Given the description of an element on the screen output the (x, y) to click on. 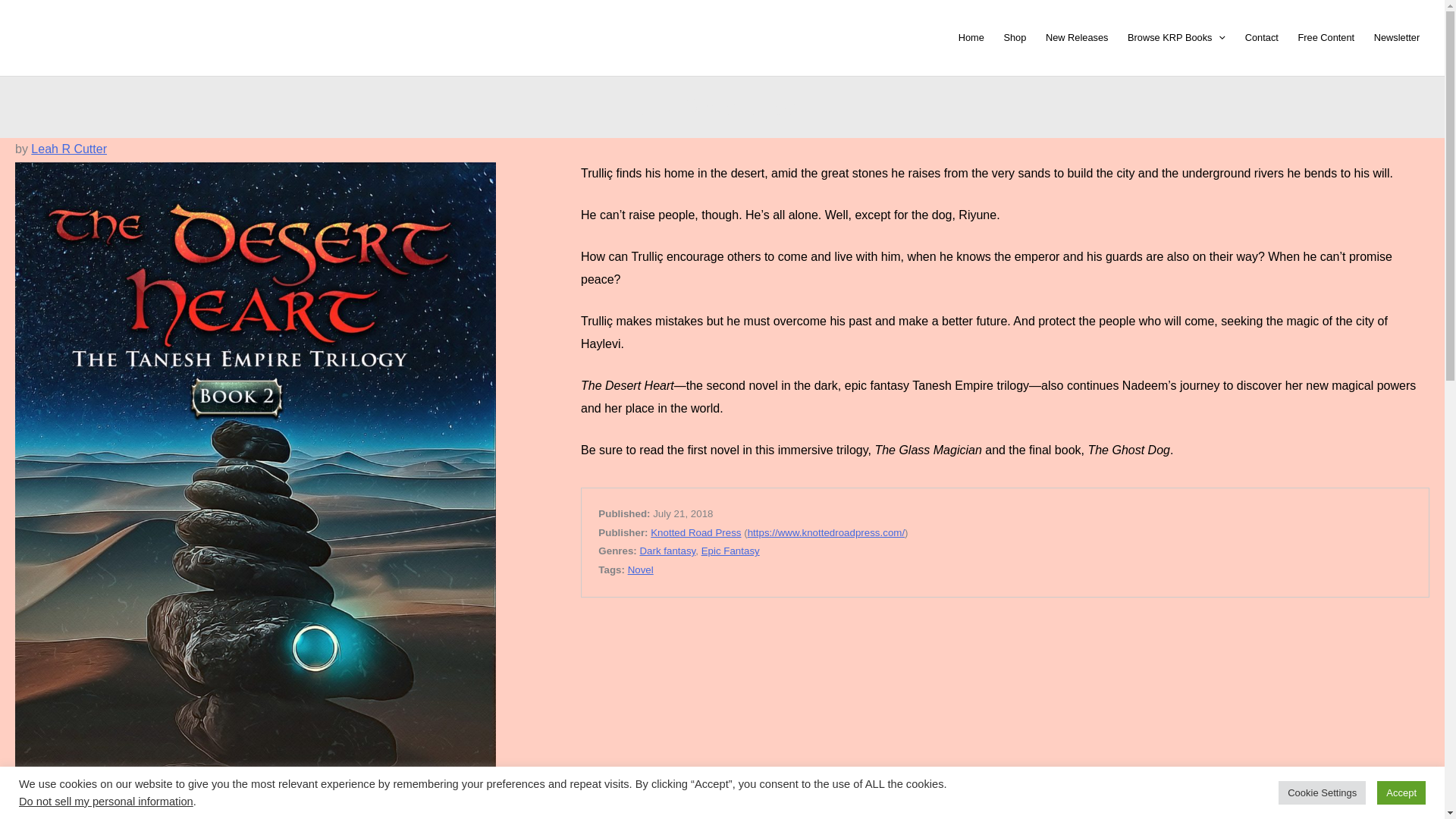
Browse KRP Books (1176, 38)
Free Content (1326, 38)
New Releases (1076, 38)
